Given the description of an element on the screen output the (x, y) to click on. 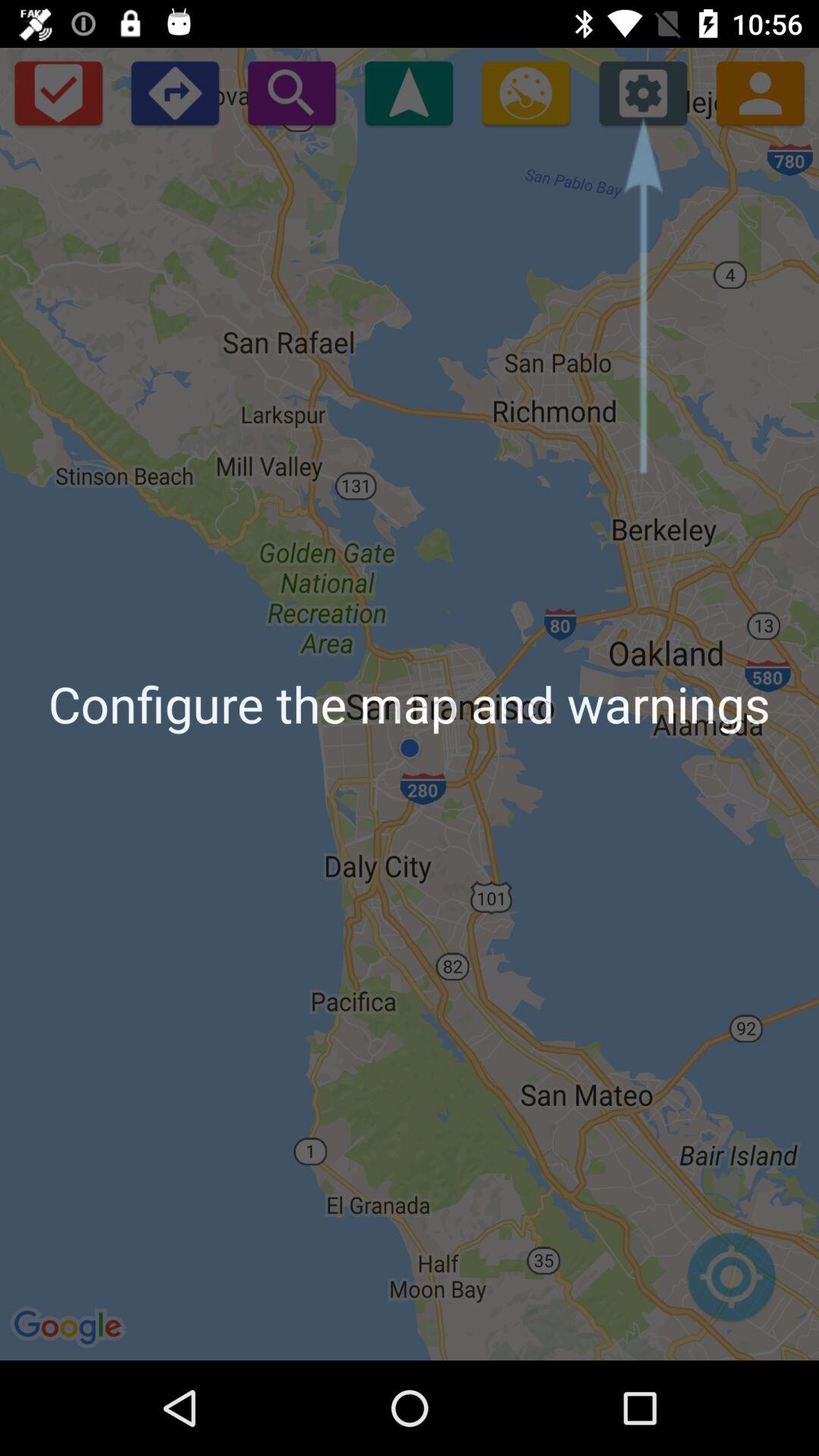
go to current location (731, 1284)
